Given the description of an element on the screen output the (x, y) to click on. 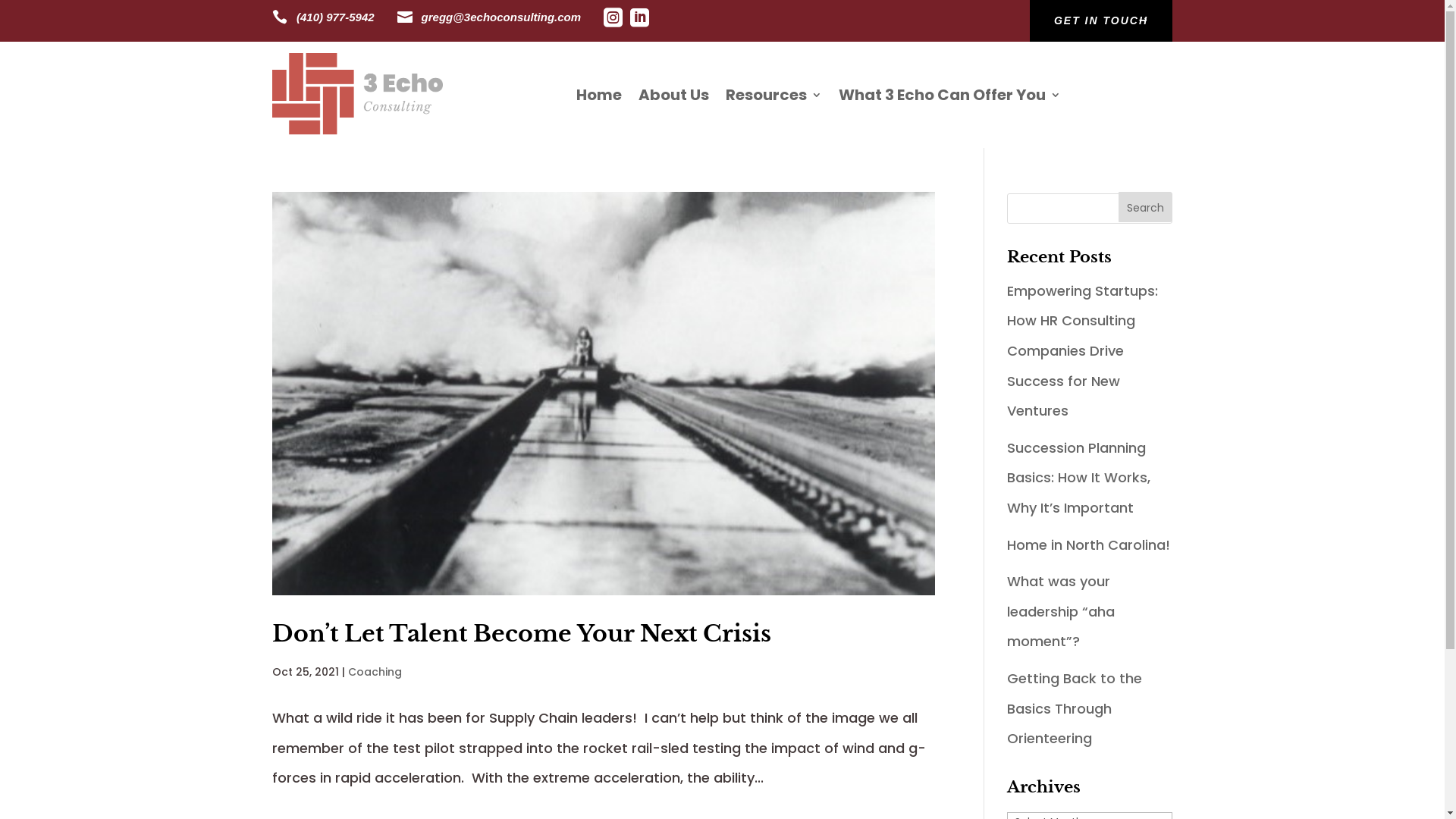
Search Element type: text (1145, 206)
(410) 977-5942 Element type: text (335, 16)
Coaching Element type: text (374, 671)
GET IN TOUCH Element type: text (1100, 21)
Home Element type: text (598, 94)
Getting Back to the Basics Through Orienteering Element type: text (1074, 707)
About Us Element type: text (673, 94)
Home in North Carolina! Element type: text (1088, 544)
gregg@3echoconsulting.com Element type: text (500, 16)
What 3 Echo Can Offer You Element type: text (949, 94)
Resources Element type: text (773, 94)
